Given the description of an element on the screen output the (x, y) to click on. 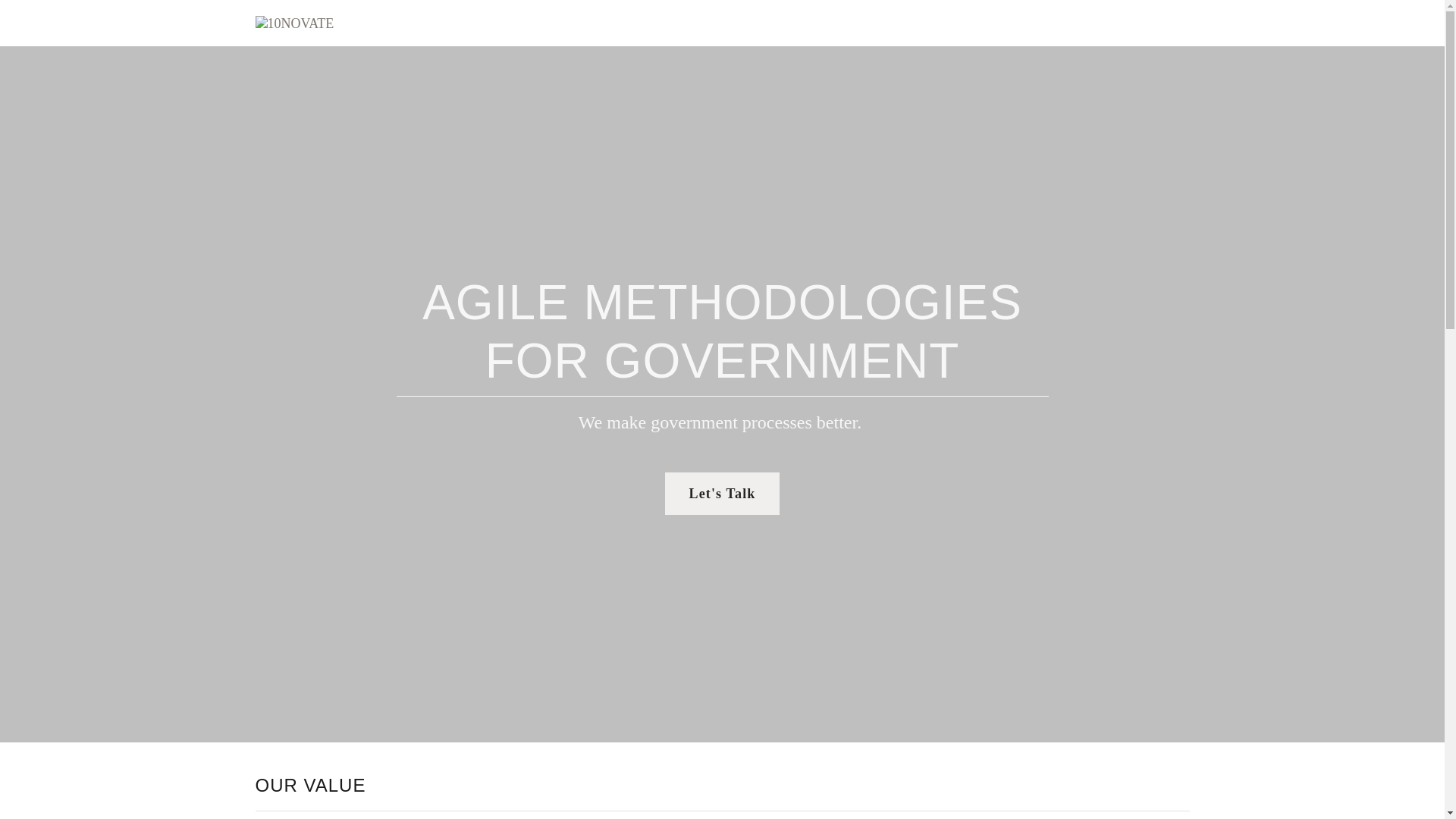
Let's Talk Element type: text (722, 493)
10NOVATE Element type: hover (293, 21)
